Given the description of an element on the screen output the (x, y) to click on. 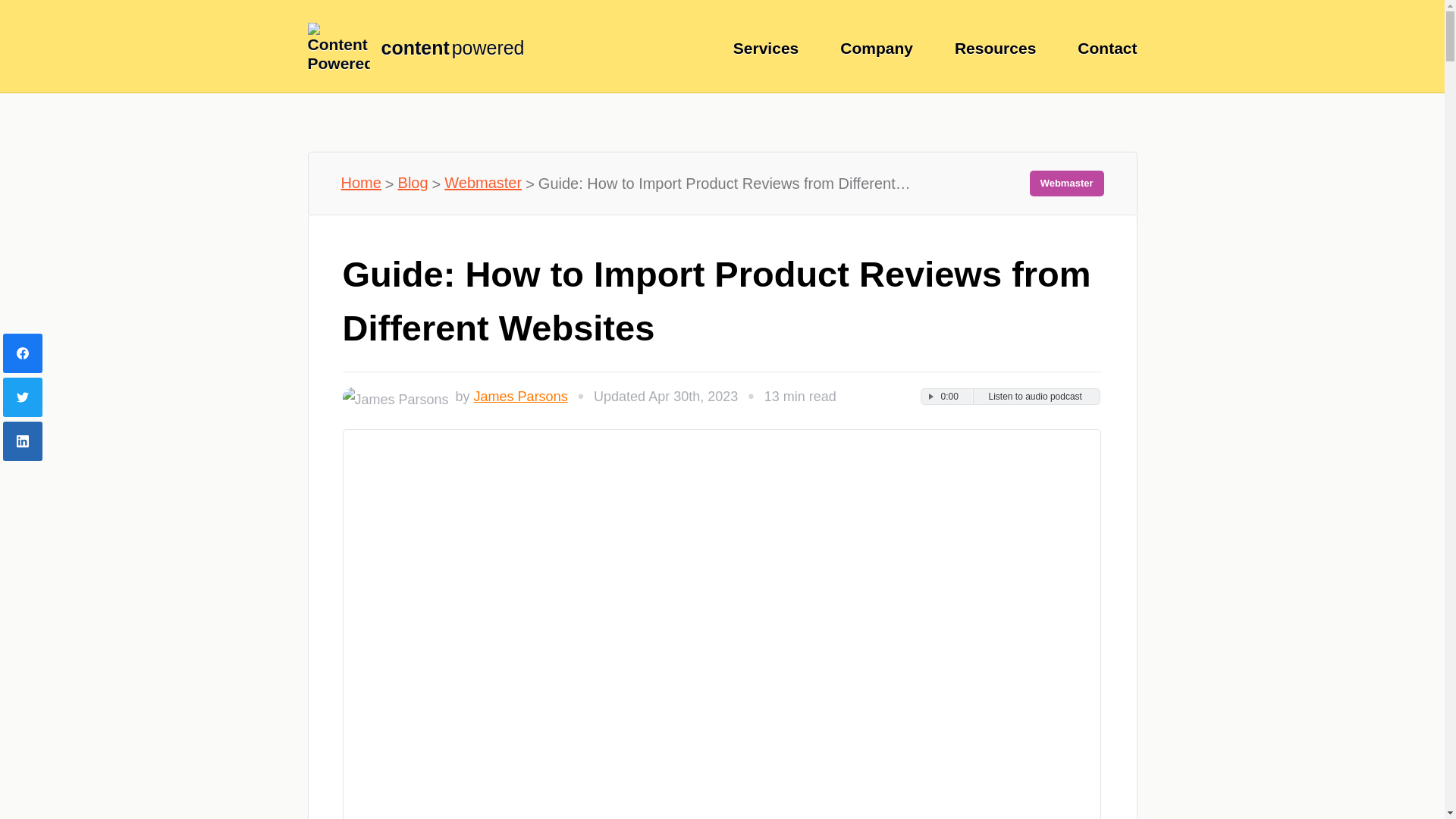
Go to Blog. (412, 182)
Webmaster (1066, 183)
Webmaster (482, 182)
James Parsons (520, 396)
Resources (995, 48)
Home (360, 182)
Go to Content Powered. (360, 182)
Blog (412, 182)
Go to the Webmaster category archives. (482, 182)
Services (765, 48)
content powered (428, 47)
Company (876, 48)
Contact (1107, 48)
